Given the description of an element on the screen output the (x, y) to click on. 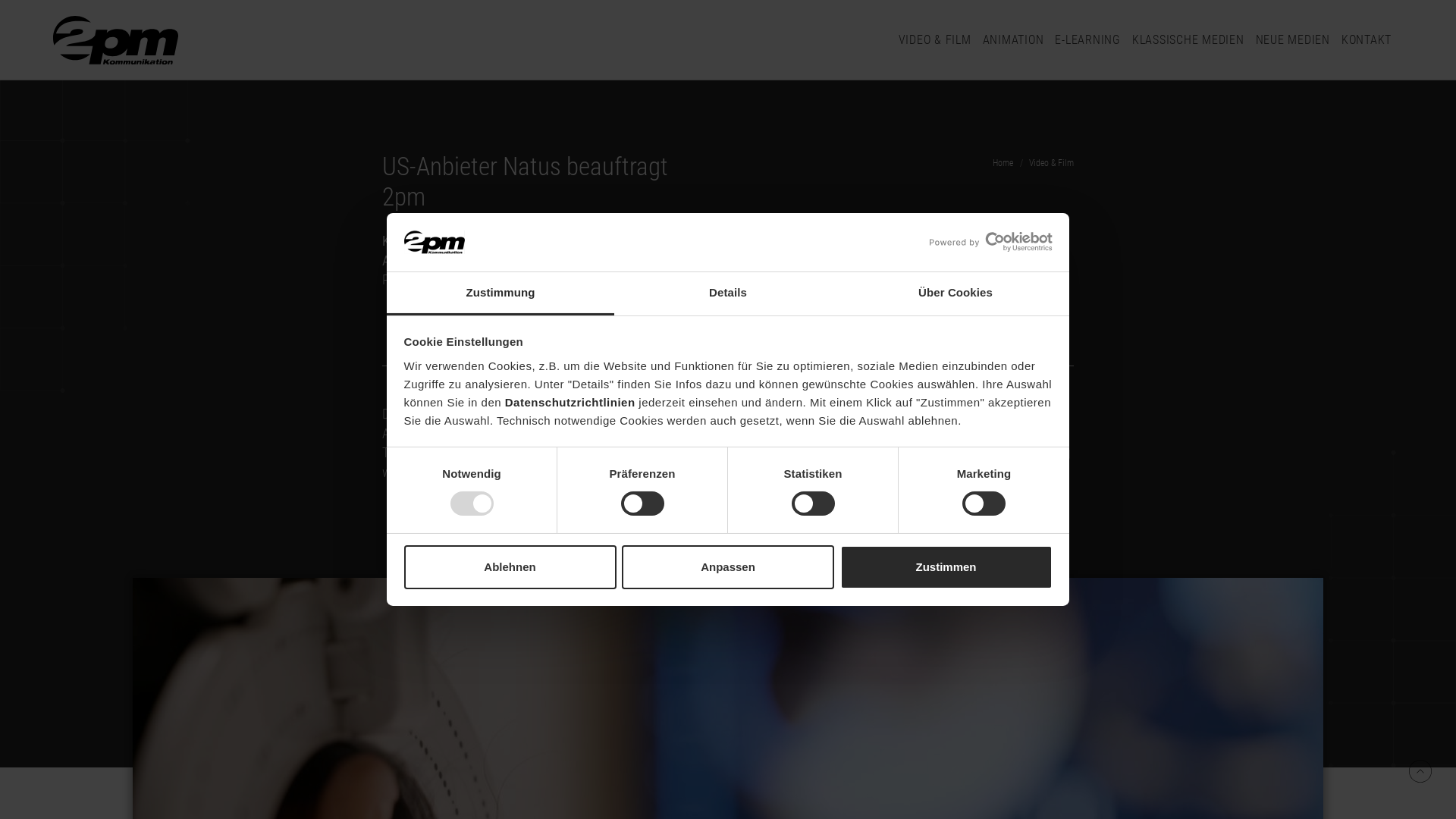
Datenschutzrichtlinien Element type: text (570, 401)
NEUE MEDIEN Element type: text (1292, 40)
Details Element type: text (727, 293)
VIDEO & FILM Element type: text (933, 40)
KLASSISCHE MEDIEN Element type: text (1188, 40)
Zustimmen Element type: text (946, 567)
Ablehnen Element type: text (509, 567)
Home Element type: text (1002, 162)
Video & Film Element type: text (1051, 162)
E-LEARNING Element type: text (1087, 40)
Zustimmung Element type: text (500, 293)
Anpassen Element type: text (727, 567)
KONTAKT Element type: text (1366, 40)
ANIMATION Element type: text (1013, 40)
